Given the description of an element on the screen output the (x, y) to click on. 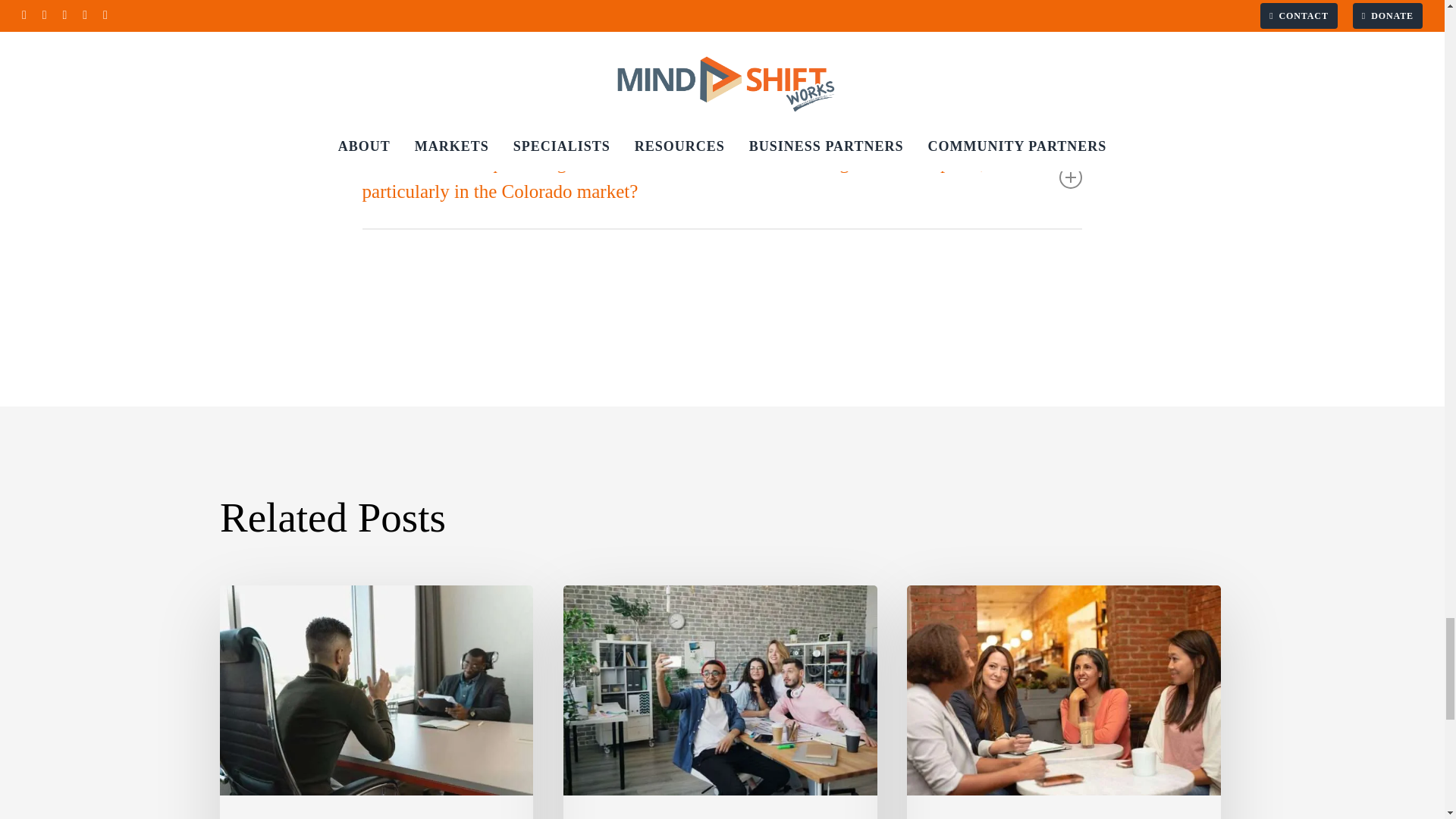
Blog (253, 817)
How to Interview Autistic Candidates- A Guide (375, 702)
